Given the description of an element on the screen output the (x, y) to click on. 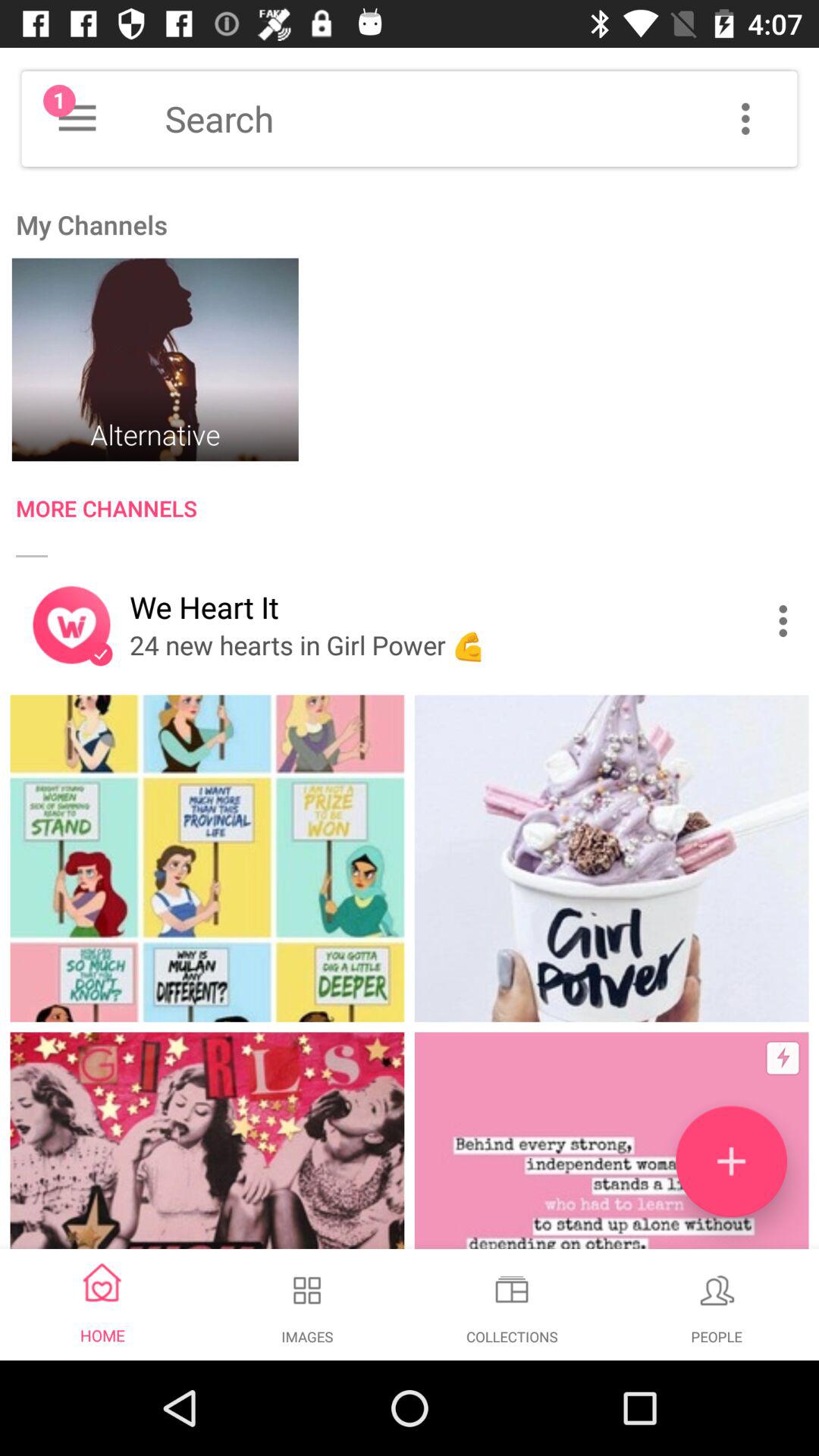
add channel (731, 1161)
